Given the description of an element on the screen output the (x, y) to click on. 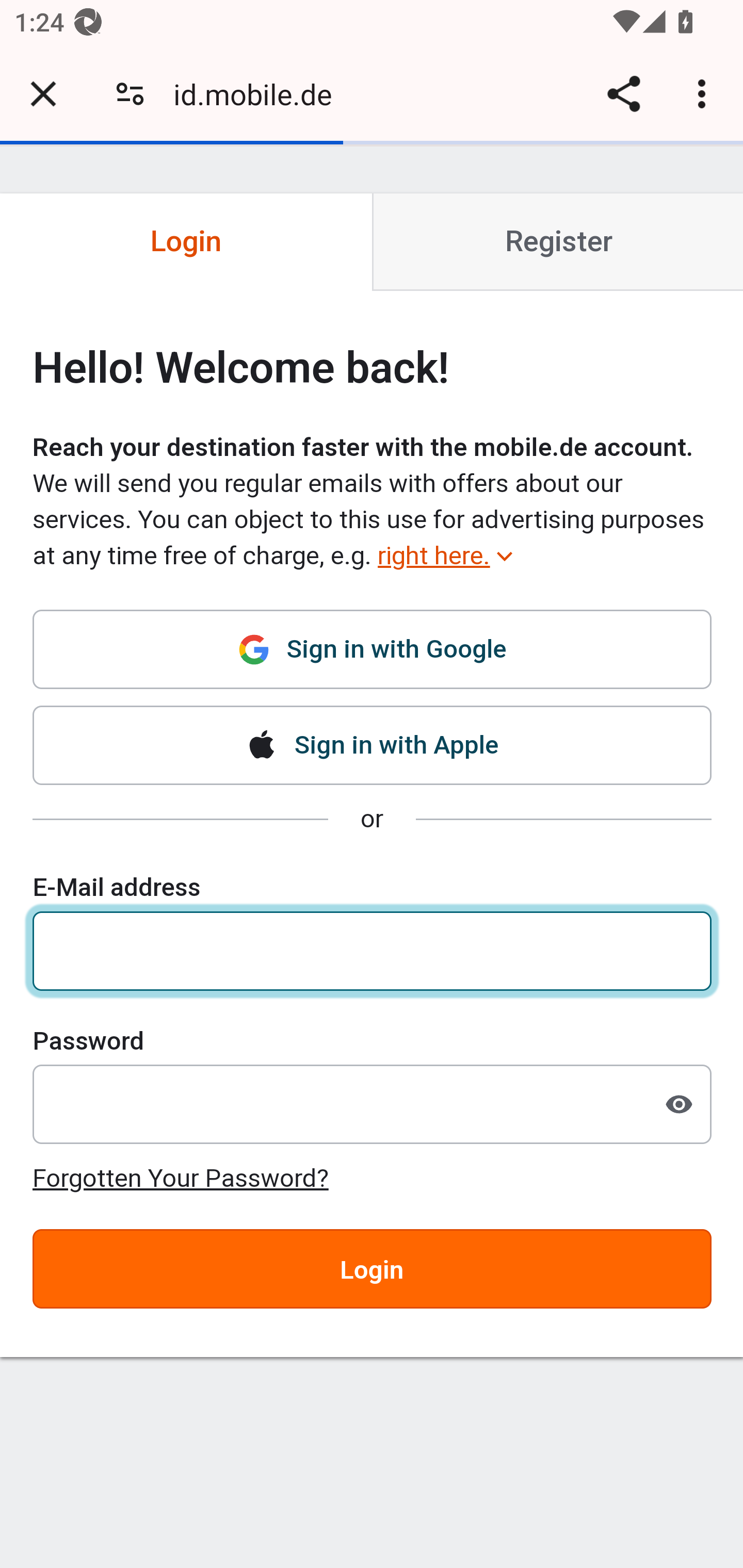
Close tab (43, 93)
Share (623, 93)
Customize and control Google Chrome (705, 93)
Connection is secure (129, 93)
id.mobile.de (259, 93)
Login (186, 242)
Register (557, 242)
Sign in with Google (372, 656)
Sign in with Apple (372, 744)
Forgotten Your Password? (180, 1177)
Login (372, 1268)
